Given the description of an element on the screen output the (x, y) to click on. 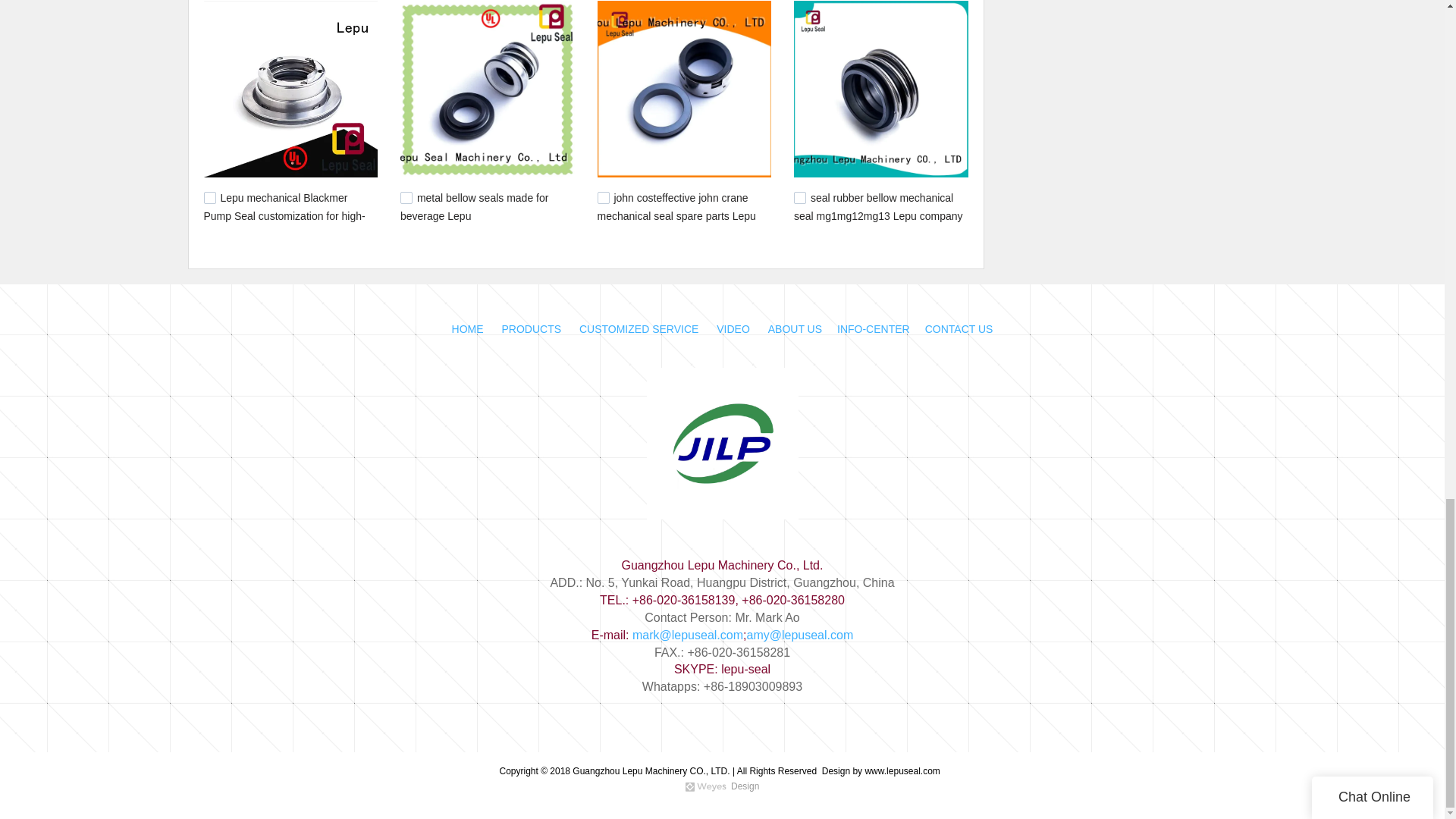
754 (799, 197)
881 (406, 197)
seal rubber bellow mechanical seal mg1mg12mg13 Lepu company (877, 206)
909 (209, 197)
813 (603, 197)
metal bellow seals made for beverage Lepu (474, 206)
